Given the description of an element on the screen output the (x, y) to click on. 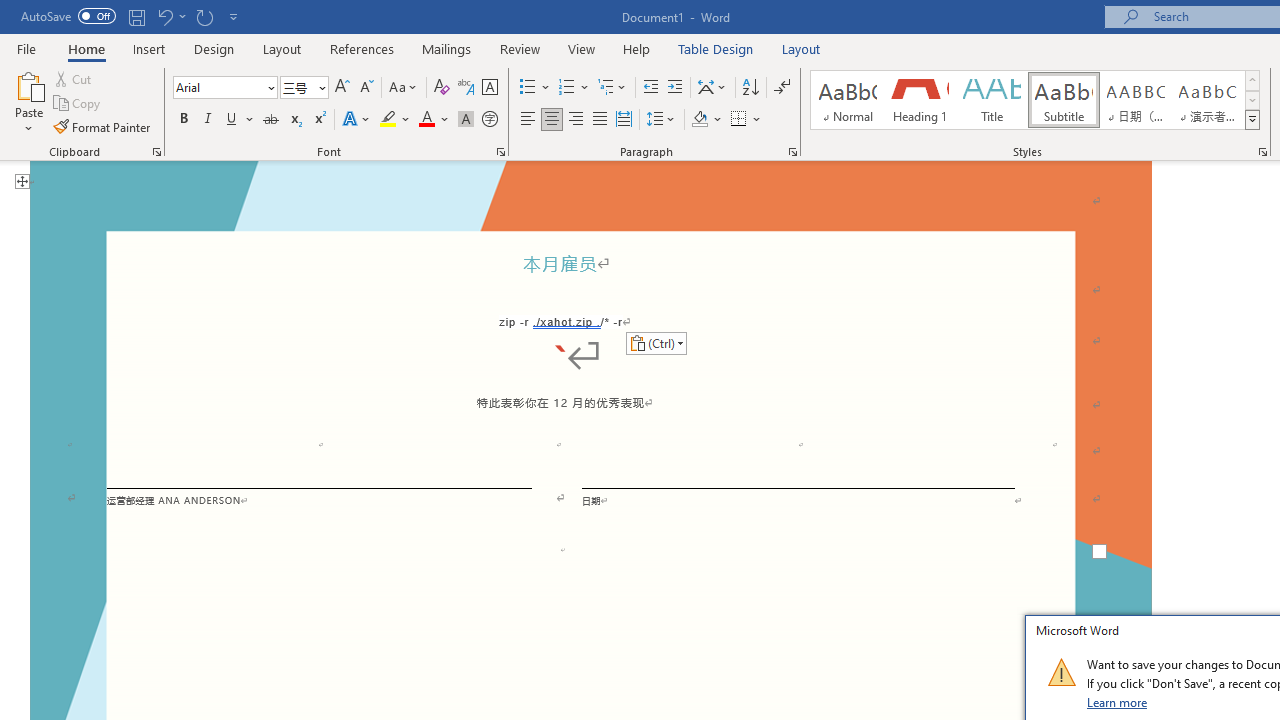
Undo Paste (164, 15)
